Given the description of an element on the screen output the (x, y) to click on. 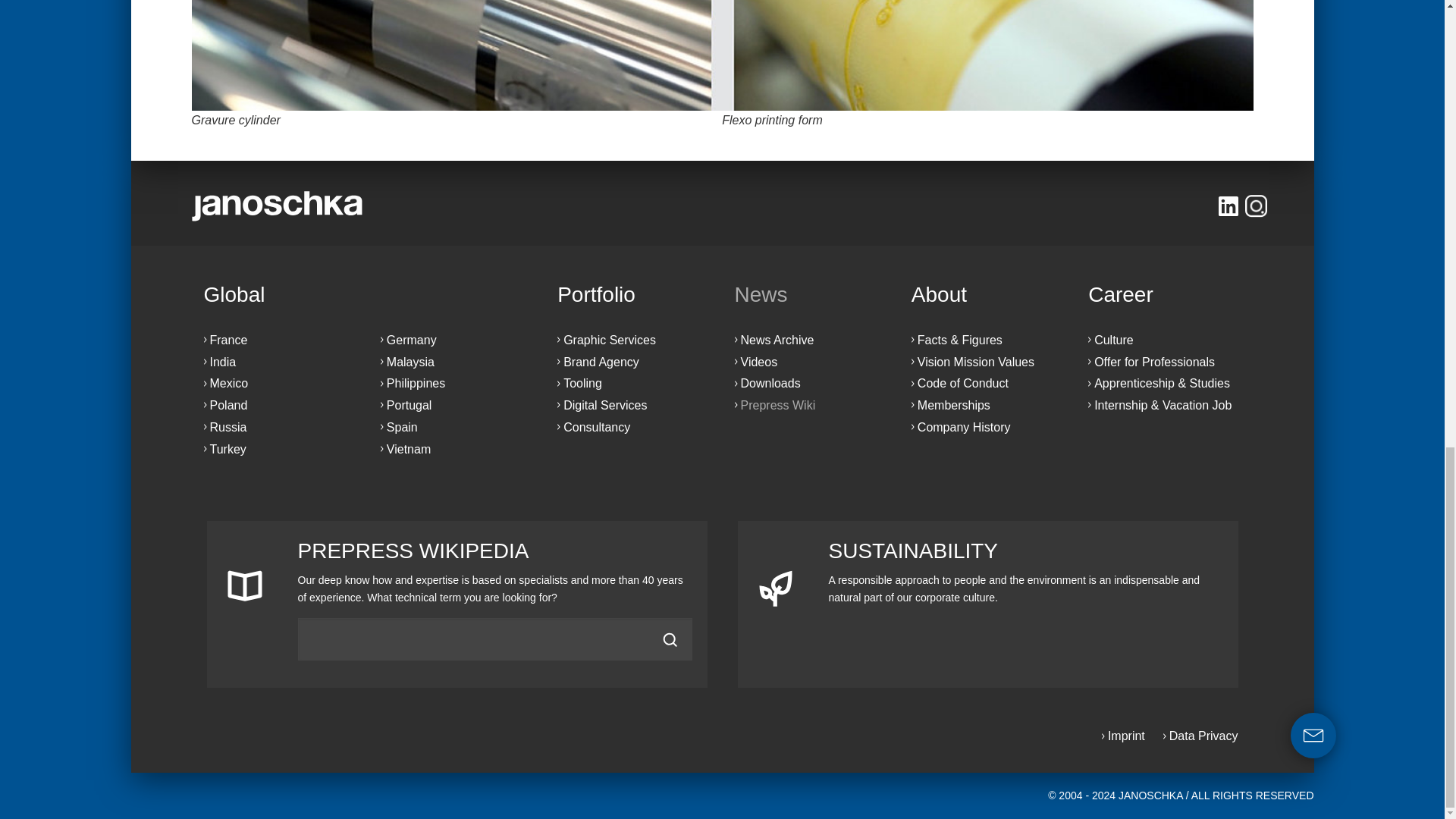
Portfolio (633, 294)
Career (1163, 294)
Global (367, 294)
About (987, 294)
